Given the description of an element on the screen output the (x, y) to click on. 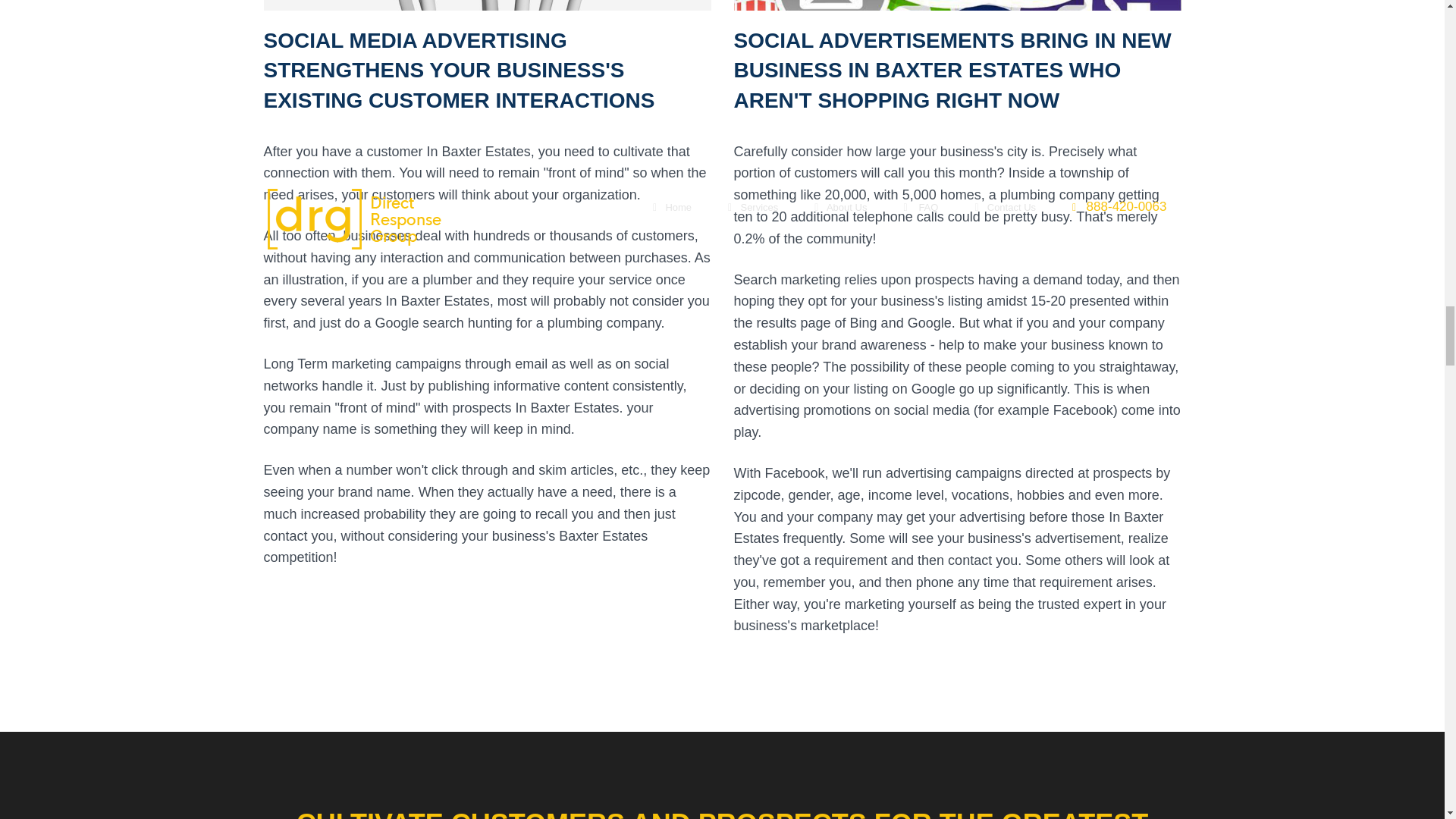
Social Media ads In Baxter Estates (956, 5)
